Given the description of an element on the screen output the (x, y) to click on. 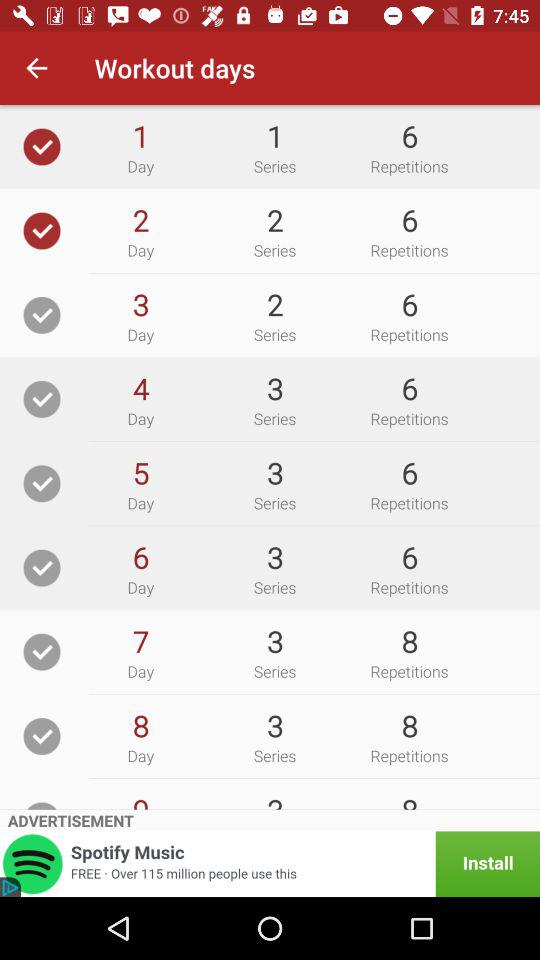
check off that day (41, 736)
